Given the description of an element on the screen output the (x, y) to click on. 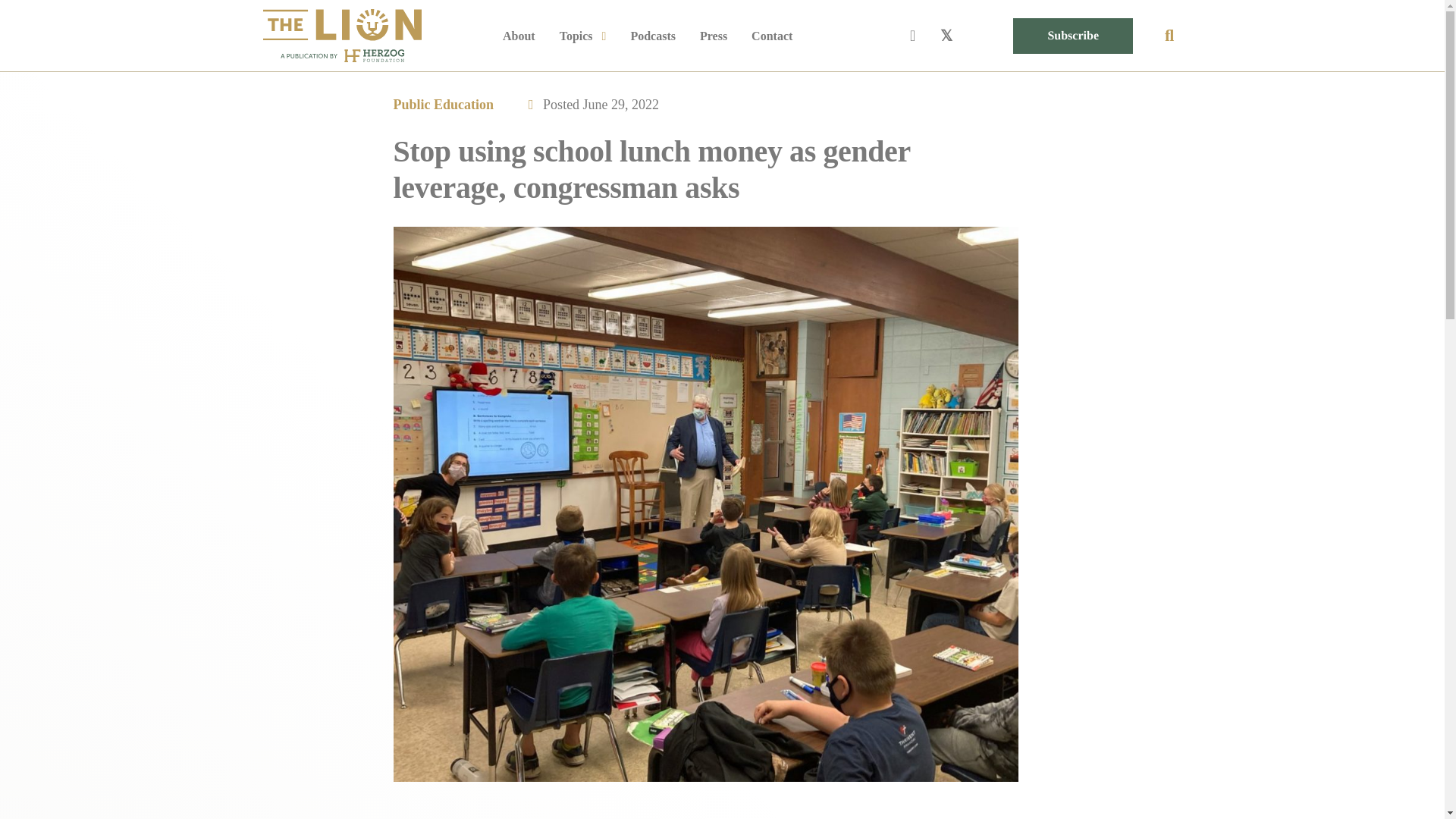
Press (713, 35)
Podcasts (652, 35)
Contact (771, 35)
About (518, 35)
Topics (583, 35)
Subscribe (1072, 36)
